Given the description of an element on the screen output the (x, y) to click on. 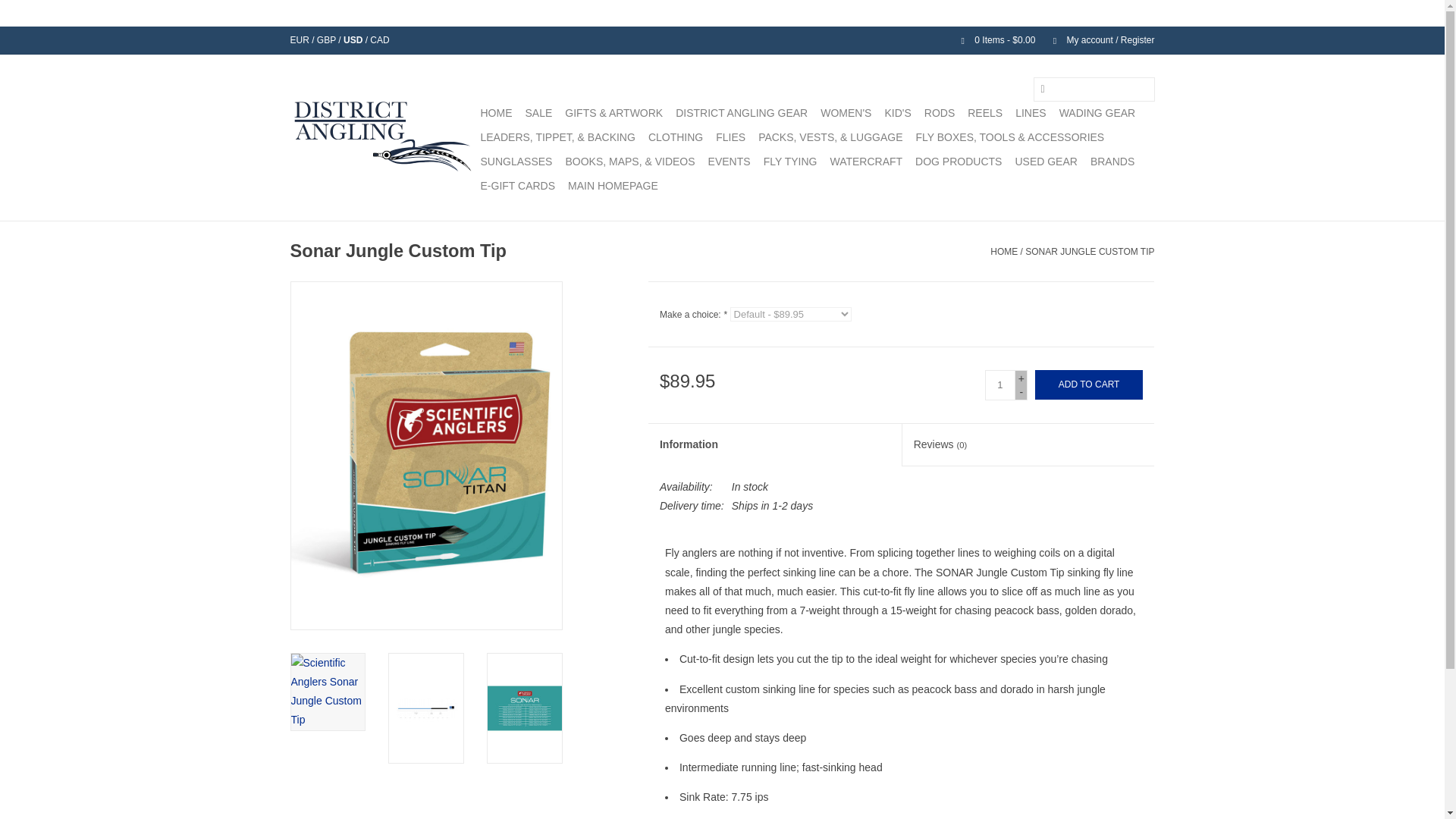
RODS (939, 112)
Women's (845, 112)
District Angling Gear (741, 112)
cad (378, 40)
USD (354, 40)
KID'S (897, 112)
gbp (327, 40)
Sale (537, 112)
LINES (1029, 112)
